Given the description of an element on the screen output the (x, y) to click on. 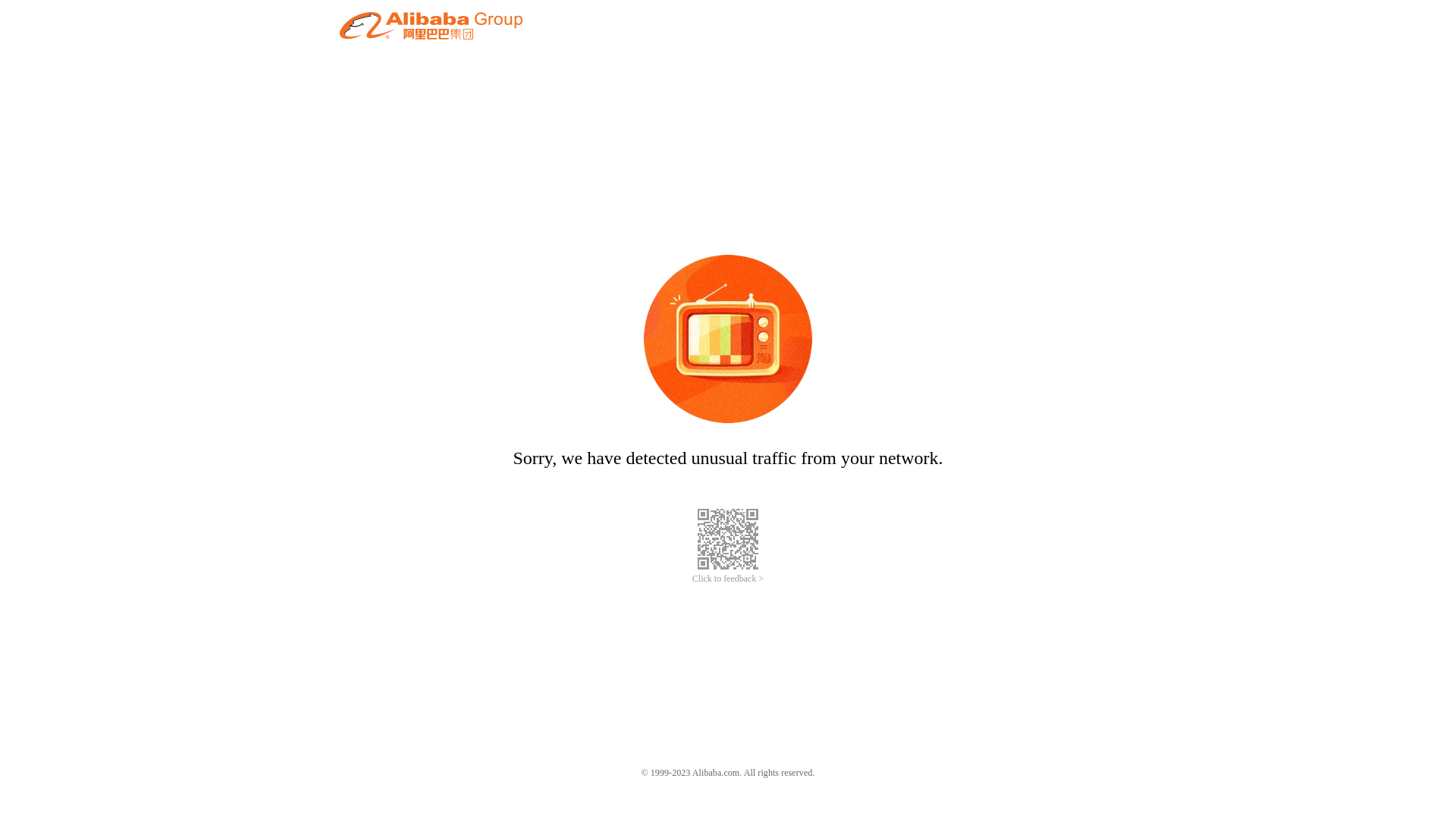
Click to feedback > Element type: text (727, 578)
